Given the description of an element on the screen output the (x, y) to click on. 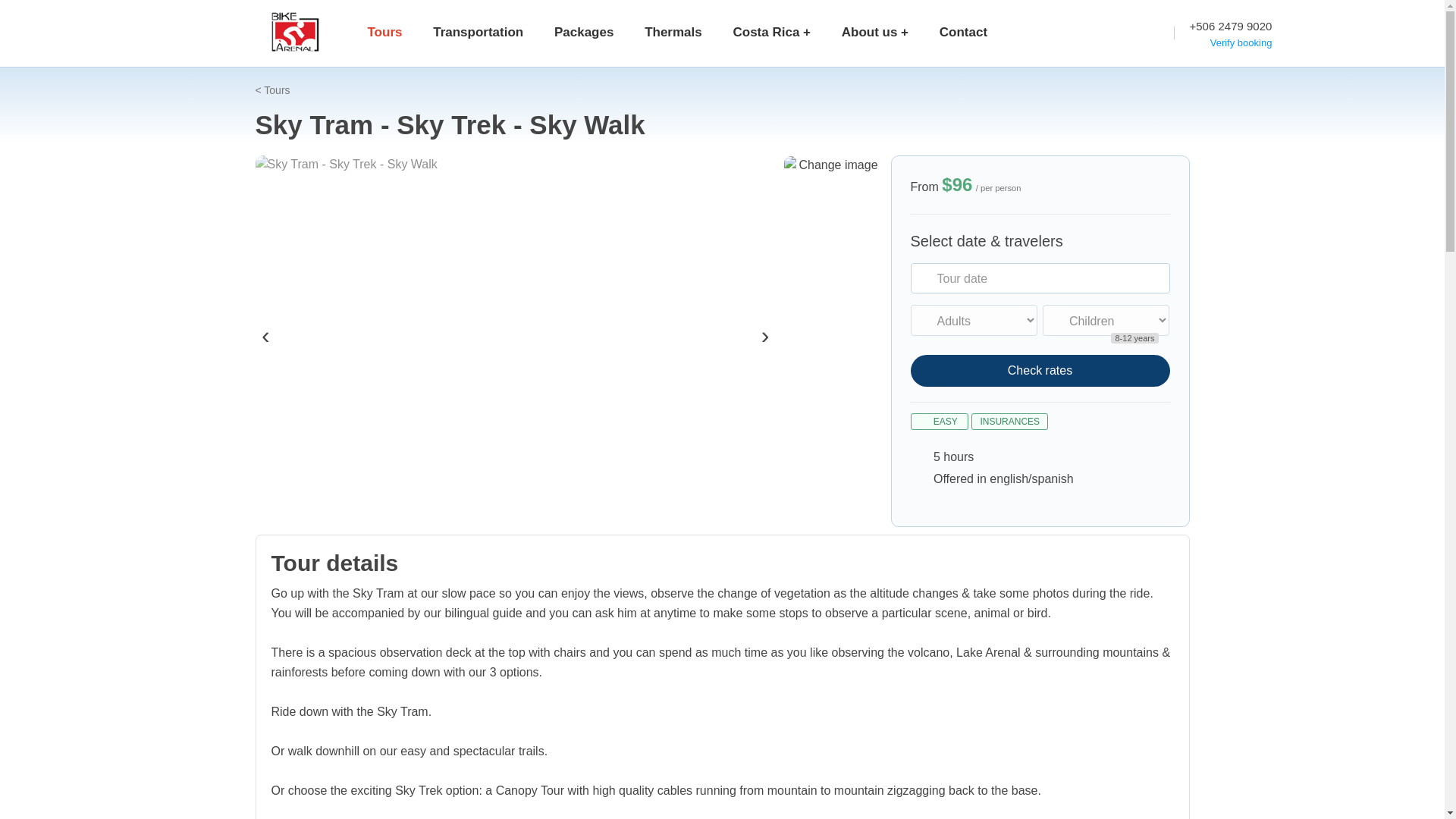
Transportation (478, 32)
Thermals (673, 32)
Contact (963, 32)
Tours (383, 32)
Check rates (1039, 370)
Verify booking (1230, 43)
Tours (276, 90)
Packages (583, 32)
